Given the description of an element on the screen output the (x, y) to click on. 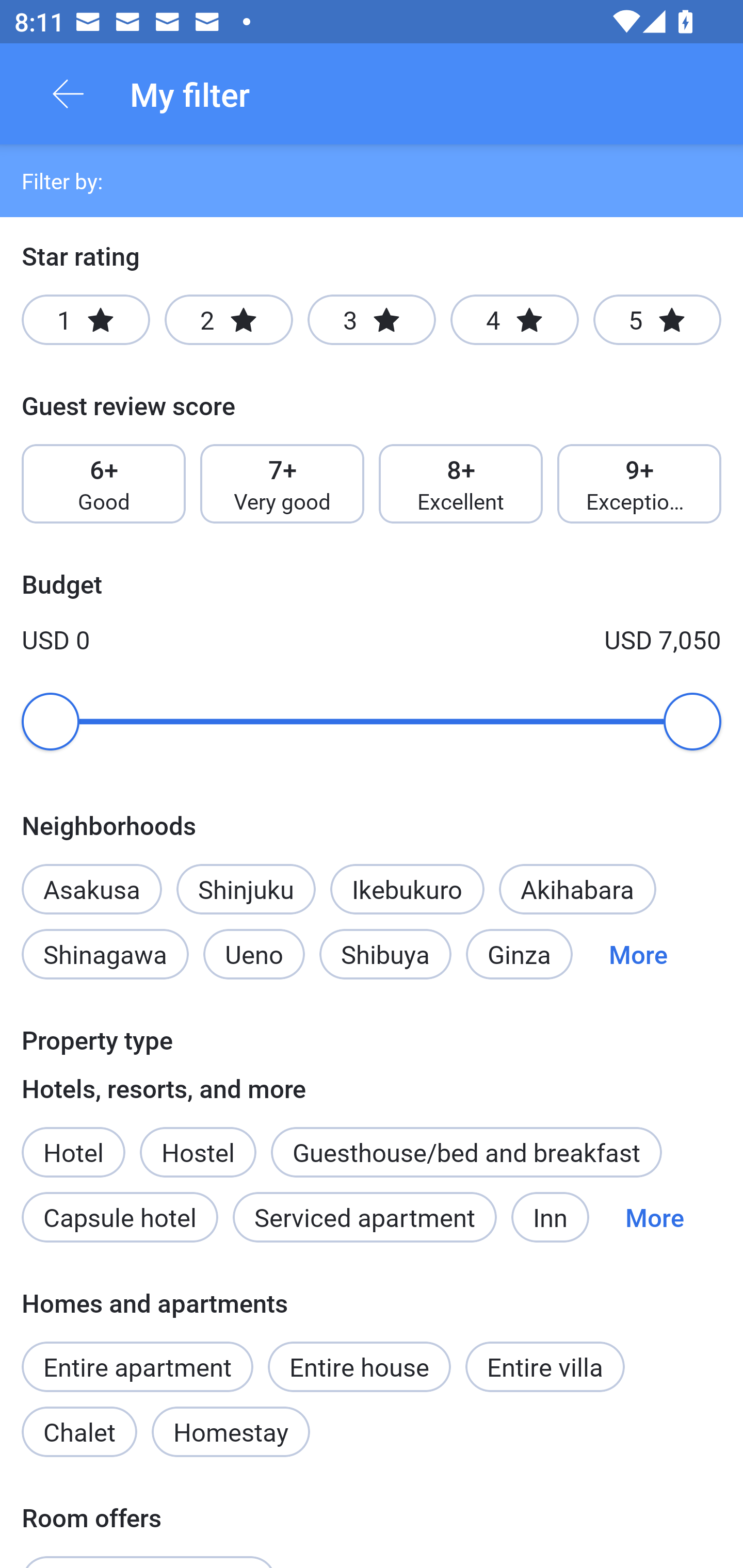
1 (85, 319)
2 (228, 319)
3 (371, 319)
4 (514, 319)
5 (657, 319)
6+ Good (103, 483)
7+ Very good (281, 483)
8+ Excellent (460, 483)
9+ Exceptional (639, 483)
Asakusa (91, 878)
Shinjuku (245, 888)
Ikebukuro (406, 888)
Akihabara (577, 888)
Shinagawa (104, 954)
Ueno (253, 954)
Shibuya (385, 954)
Ginza (518, 954)
More (637, 954)
Hotel (73, 1141)
Hostel (197, 1151)
Guesthouse/bed and breakfast (466, 1151)
Capsule hotel (119, 1217)
Serviced apartment (364, 1217)
Inn (550, 1217)
More (654, 1217)
Entire apartment (137, 1366)
Entire house (359, 1366)
Entire villa (544, 1366)
Chalet (79, 1432)
Homestay (230, 1432)
